Given the description of an element on the screen output the (x, y) to click on. 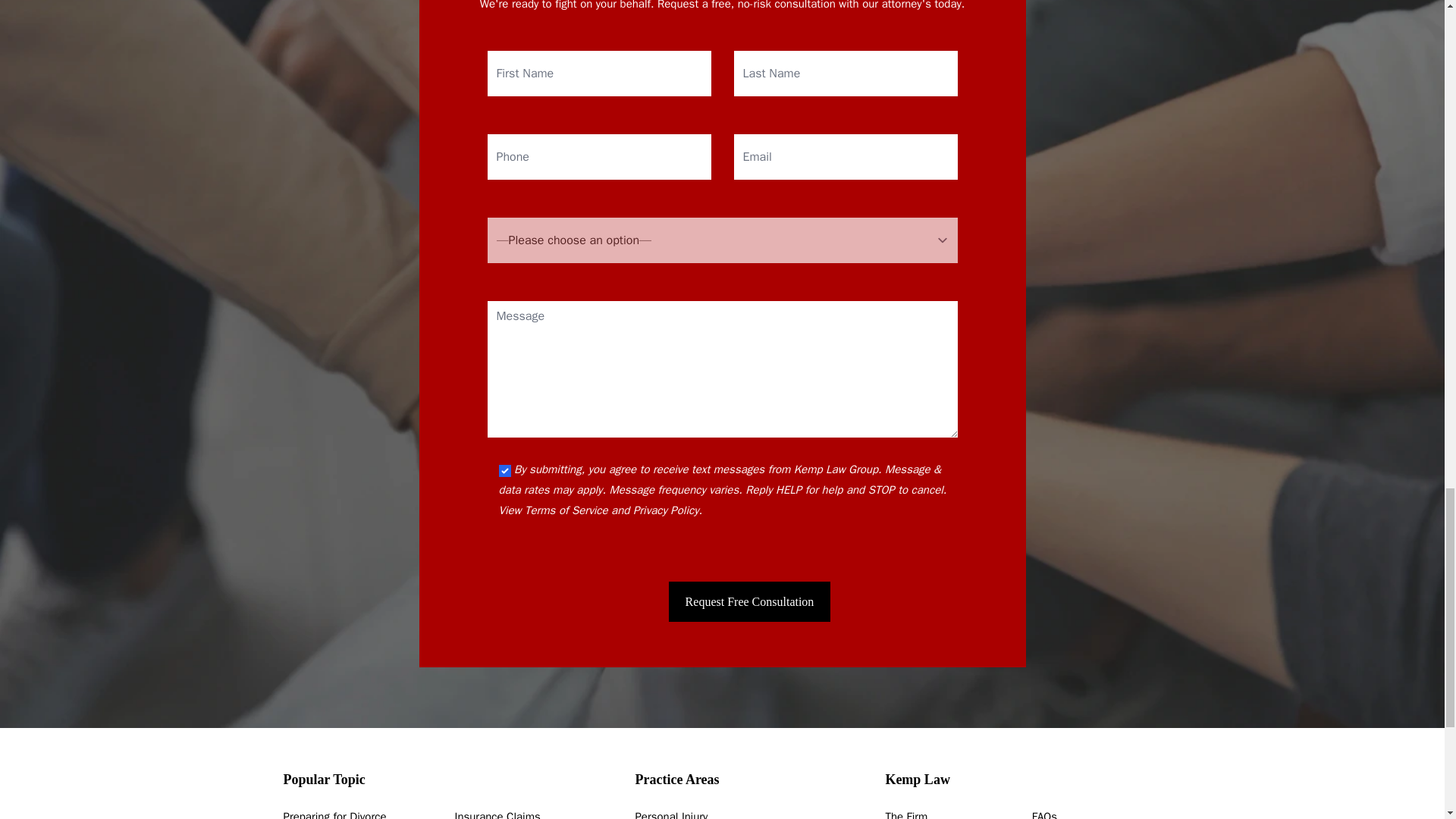
1 (505, 470)
Request Free Consultation (749, 601)
